Given the description of an element on the screen output the (x, y) to click on. 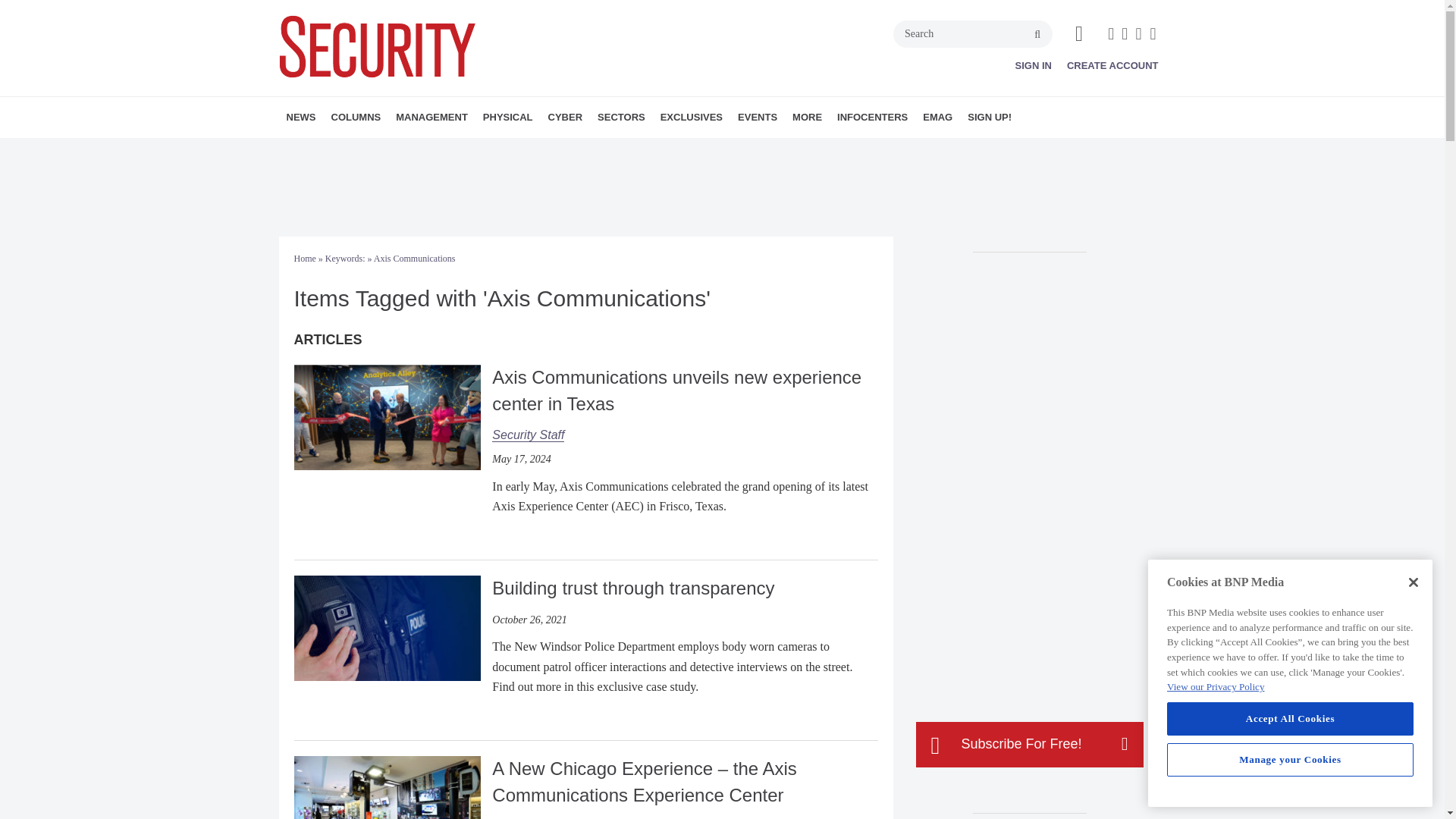
Axis Communications ribbon cutting (387, 417)
Search (972, 33)
Building trust through transparency (387, 626)
AxisExperienceCenter1 (387, 787)
Search (972, 33)
Axis Communications unveils new experience center in Texas (387, 416)
